Given the description of an element on the screen output the (x, y) to click on. 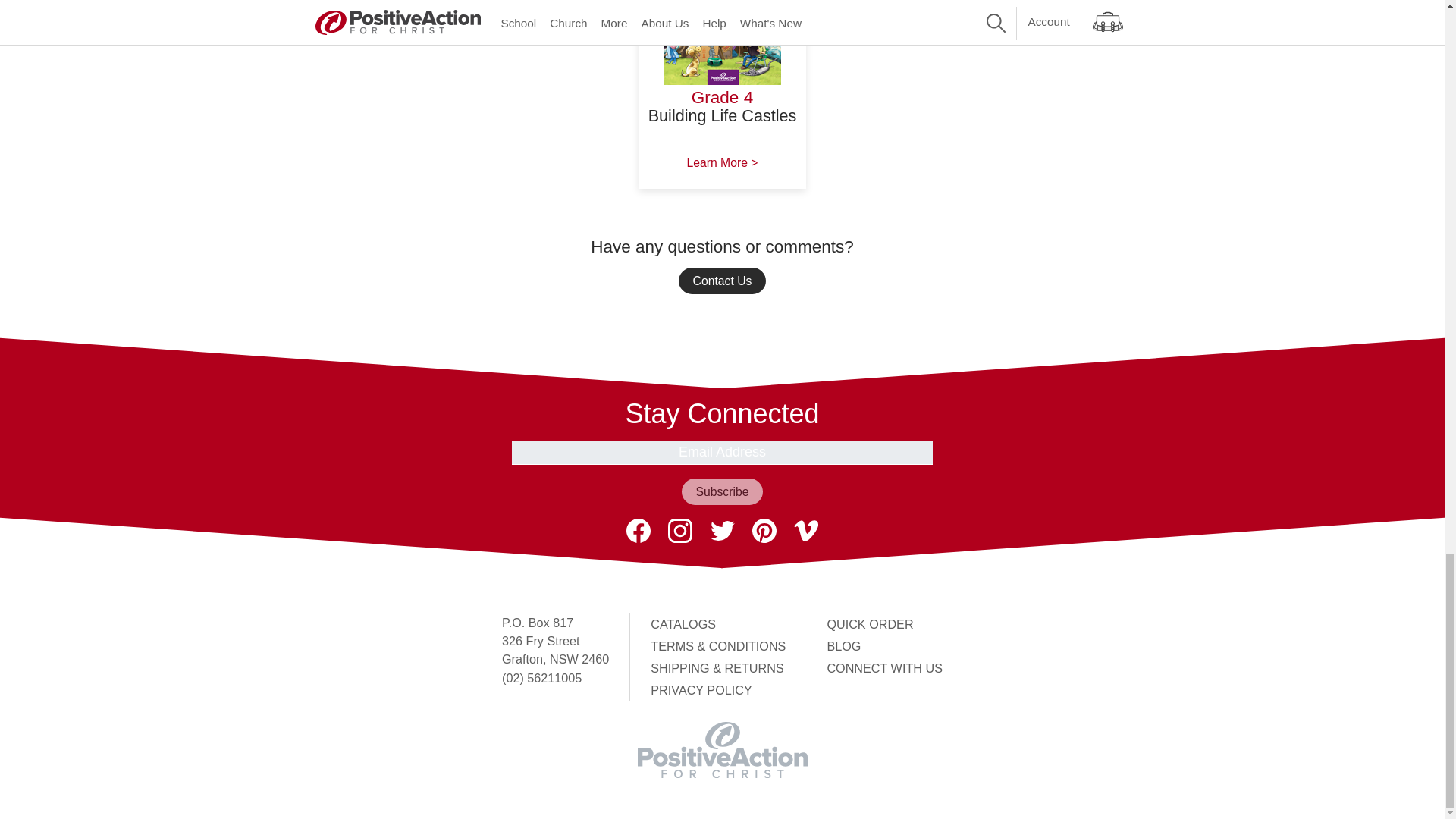
CATALOGS (683, 623)
PRIVACY POLICY (700, 689)
CONNECT WITH US (884, 667)
Contact Us (721, 280)
Subscribe (721, 491)
QUICK ORDER (869, 623)
BLOG (843, 645)
